Given the description of an element on the screen output the (x, y) to click on. 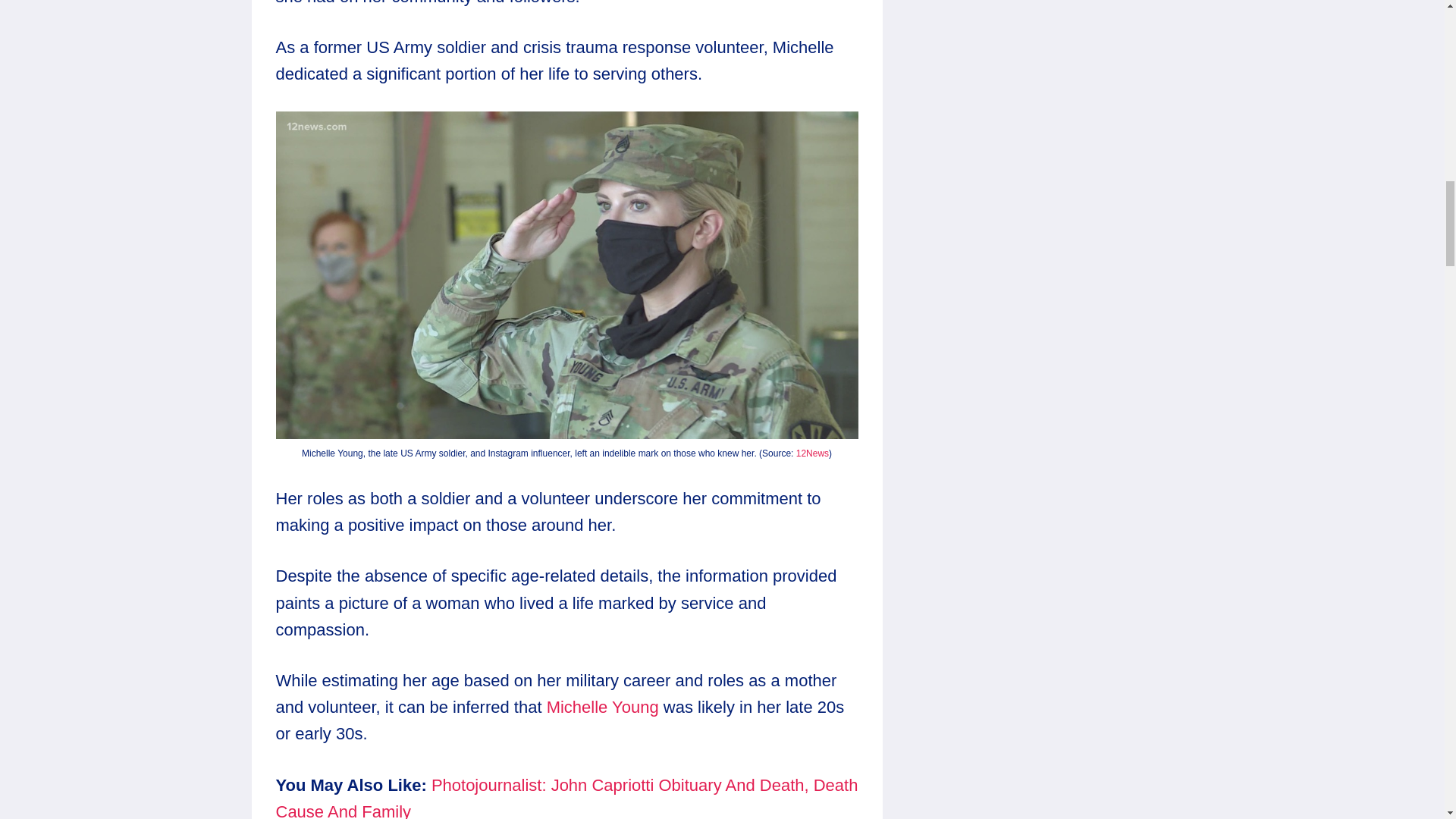
Michelle Young (603, 706)
12News (812, 452)
